Given the description of an element on the screen output the (x, y) to click on. 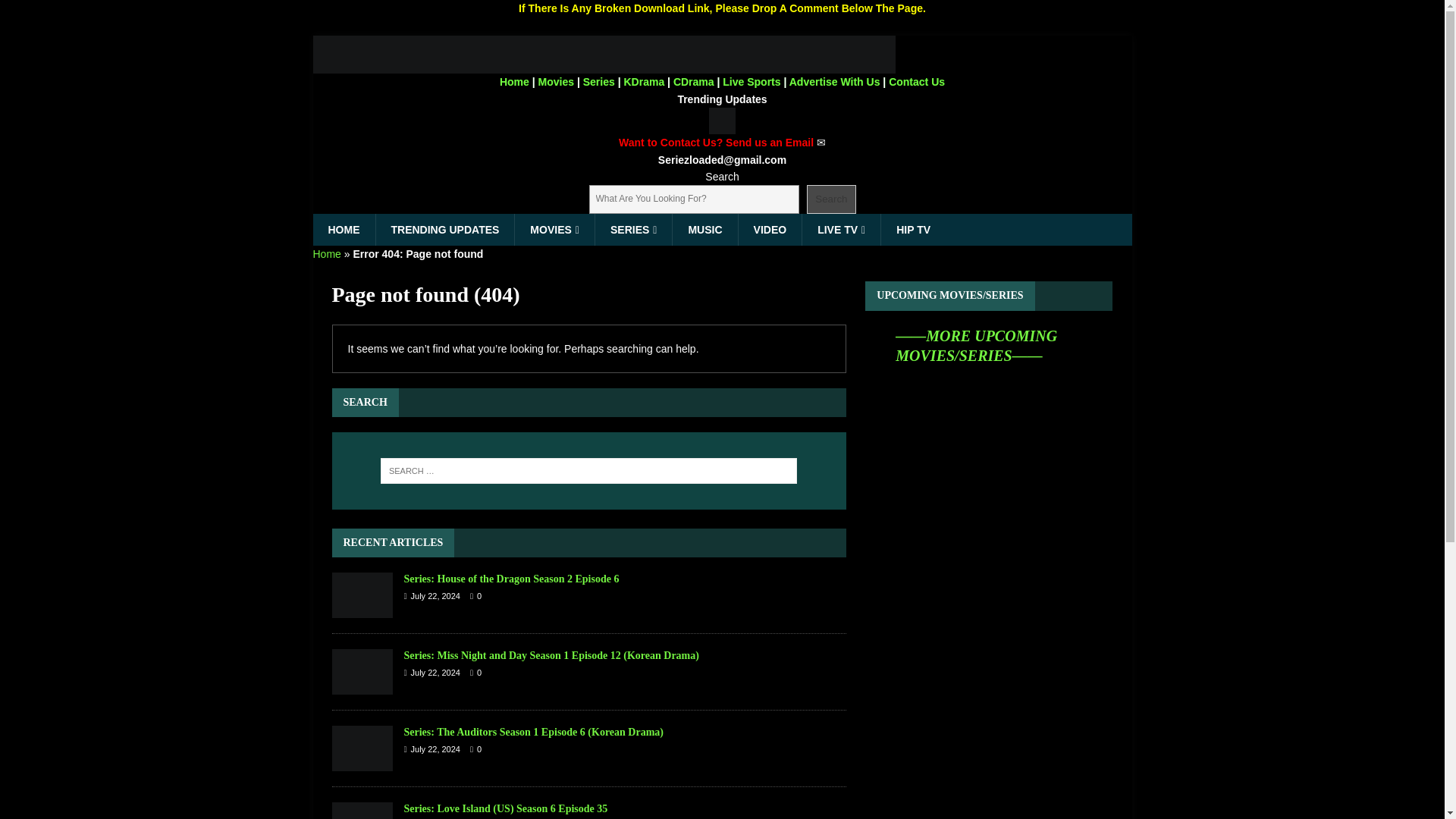
Series: House of the Dragon Season 2 Episode 6 (362, 595)
Series: House of the Dragon Season 2 Episode 6 (510, 578)
Advertise With Us (834, 81)
Trending Updates (722, 99)
Movies (555, 81)
Search (56, 11)
SERIES (632, 229)
Contact Us (916, 81)
Search (831, 198)
CDrama (693, 81)
KDrama (643, 81)
LIVE TV (841, 229)
VIDEO (770, 229)
Home (326, 254)
WhatsApp (722, 120)
